Given the description of an element on the screen output the (x, y) to click on. 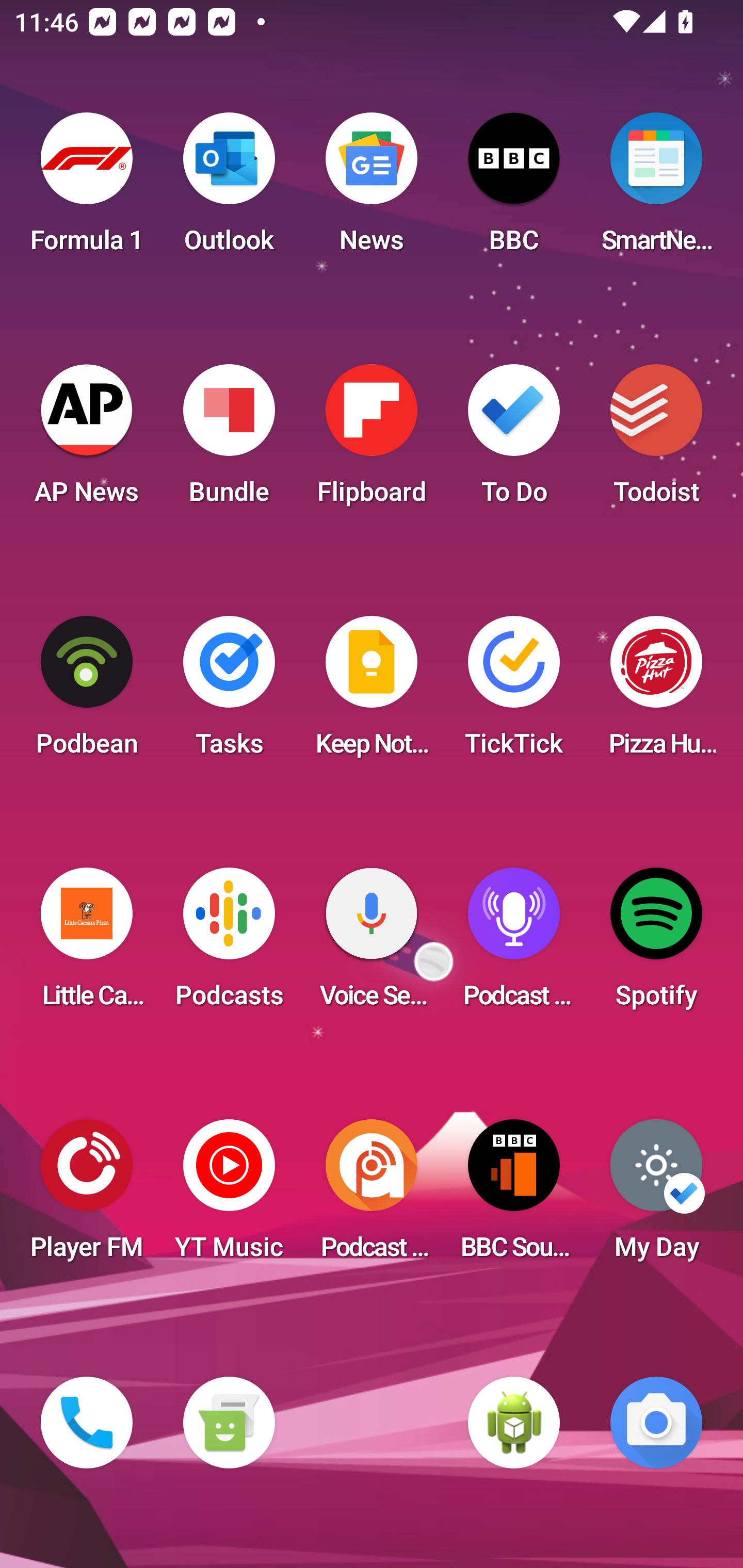
Formula 1 (86, 188)
Outlook (228, 188)
News (371, 188)
BBC (513, 188)
SmartNews (656, 188)
AP News (86, 440)
Bundle (228, 440)
Flipboard (371, 440)
To Do (513, 440)
Todoist (656, 440)
Podbean (86, 692)
Tasks (228, 692)
Keep Notes (371, 692)
TickTick (513, 692)
Pizza Hut HK & Macau (656, 692)
Little Caesars Pizza (86, 943)
Podcasts (228, 943)
Voice Search (371, 943)
Podcast Player (513, 943)
Spotify (656, 943)
Player FM (86, 1195)
YT Music (228, 1195)
Podcast Addict (371, 1195)
BBC Sounds (513, 1195)
My Day (656, 1195)
Phone (86, 1422)
Messaging (228, 1422)
WebView Browser Tester (513, 1422)
Camera (656, 1422)
